Given the description of an element on the screen output the (x, y) to click on. 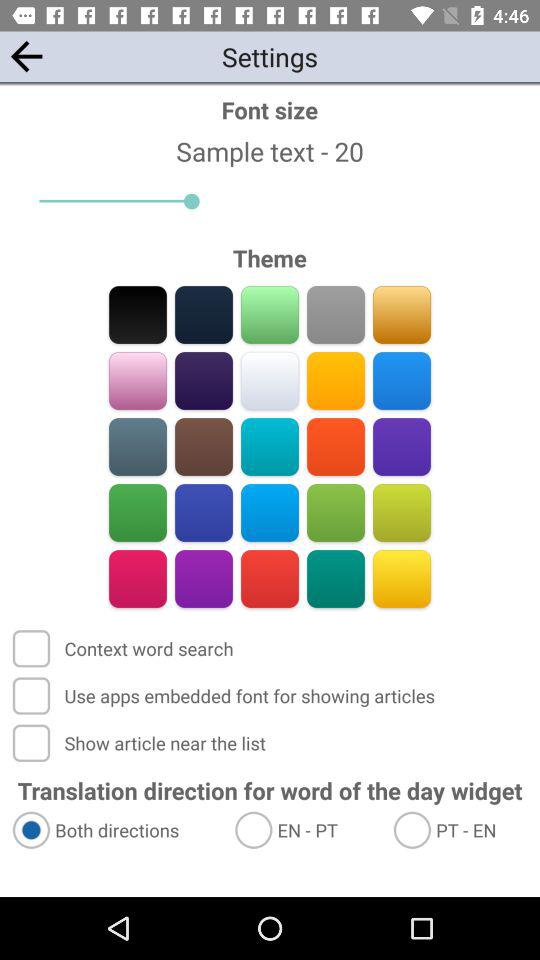
white color (269, 380)
